Given the description of an element on the screen output the (x, y) to click on. 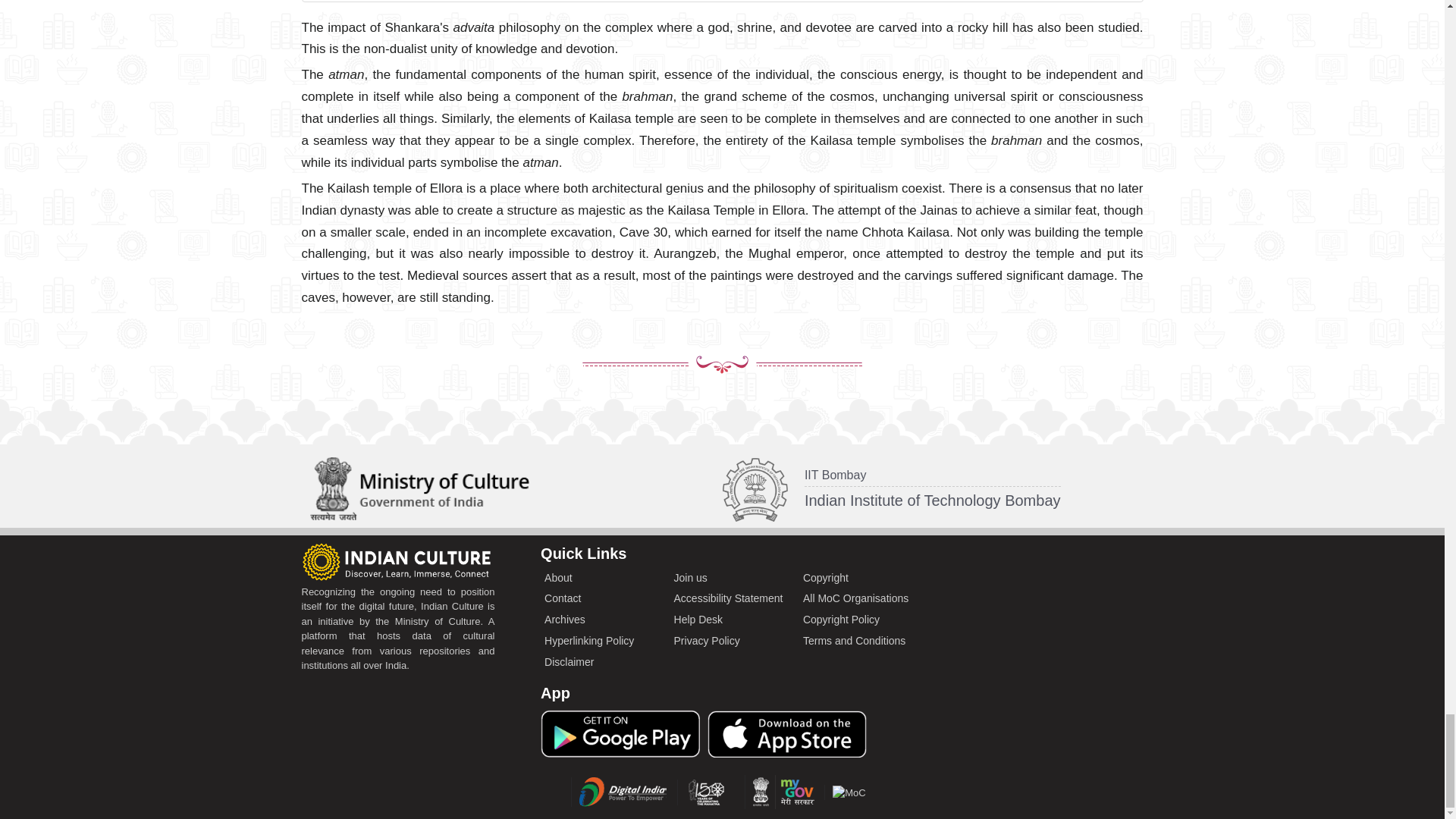
Ministry of Culture, Government of India (848, 792)
logo-gandhi (709, 792)
